Given the description of an element on the screen output the (x, y) to click on. 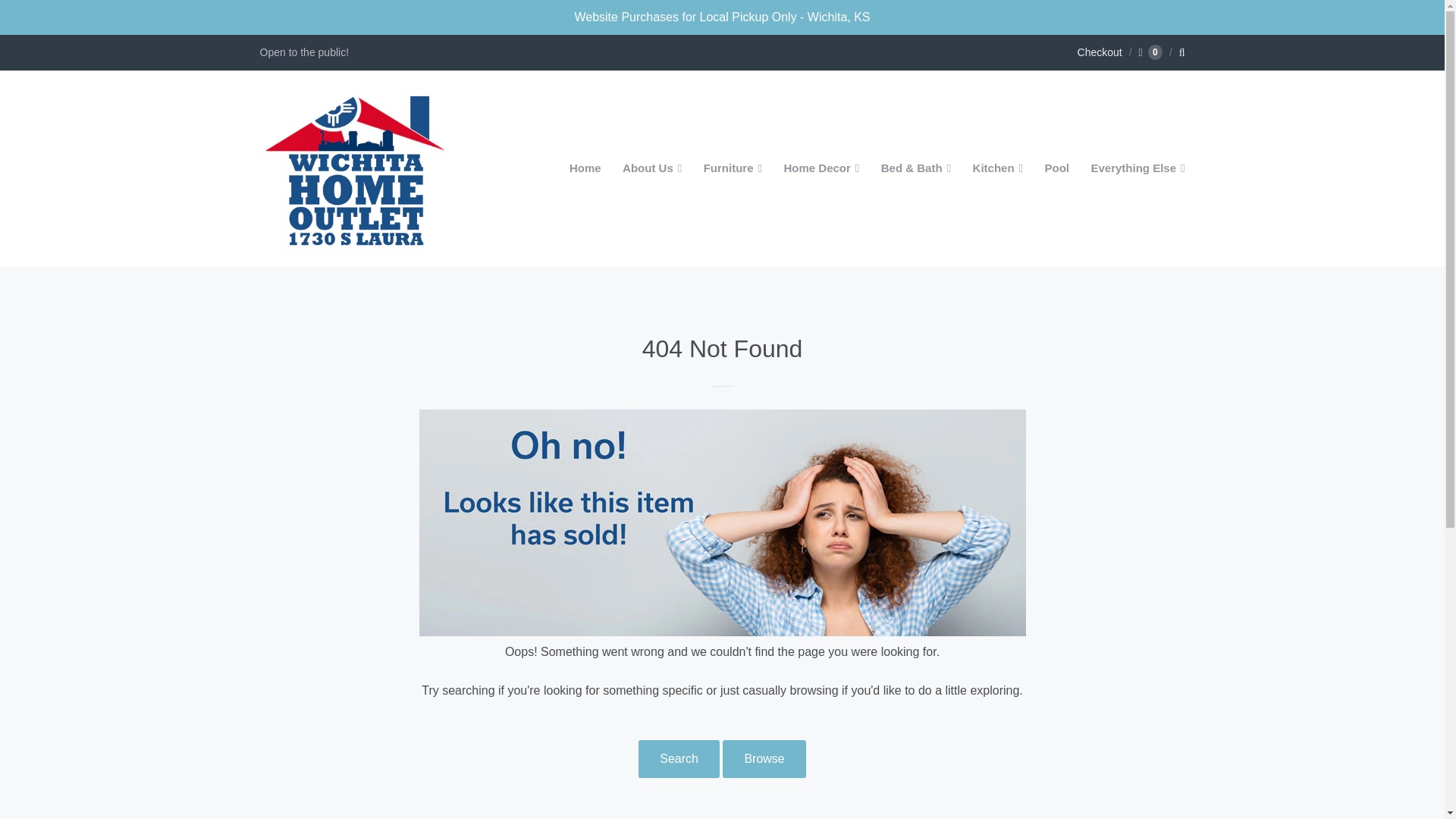
Wichita Home Outlet (353, 167)
About Us (651, 168)
Checkout (1099, 51)
0 (1149, 51)
Home Decor (820, 168)
Home (585, 168)
Furniture (732, 168)
